Given the description of an element on the screen output the (x, y) to click on. 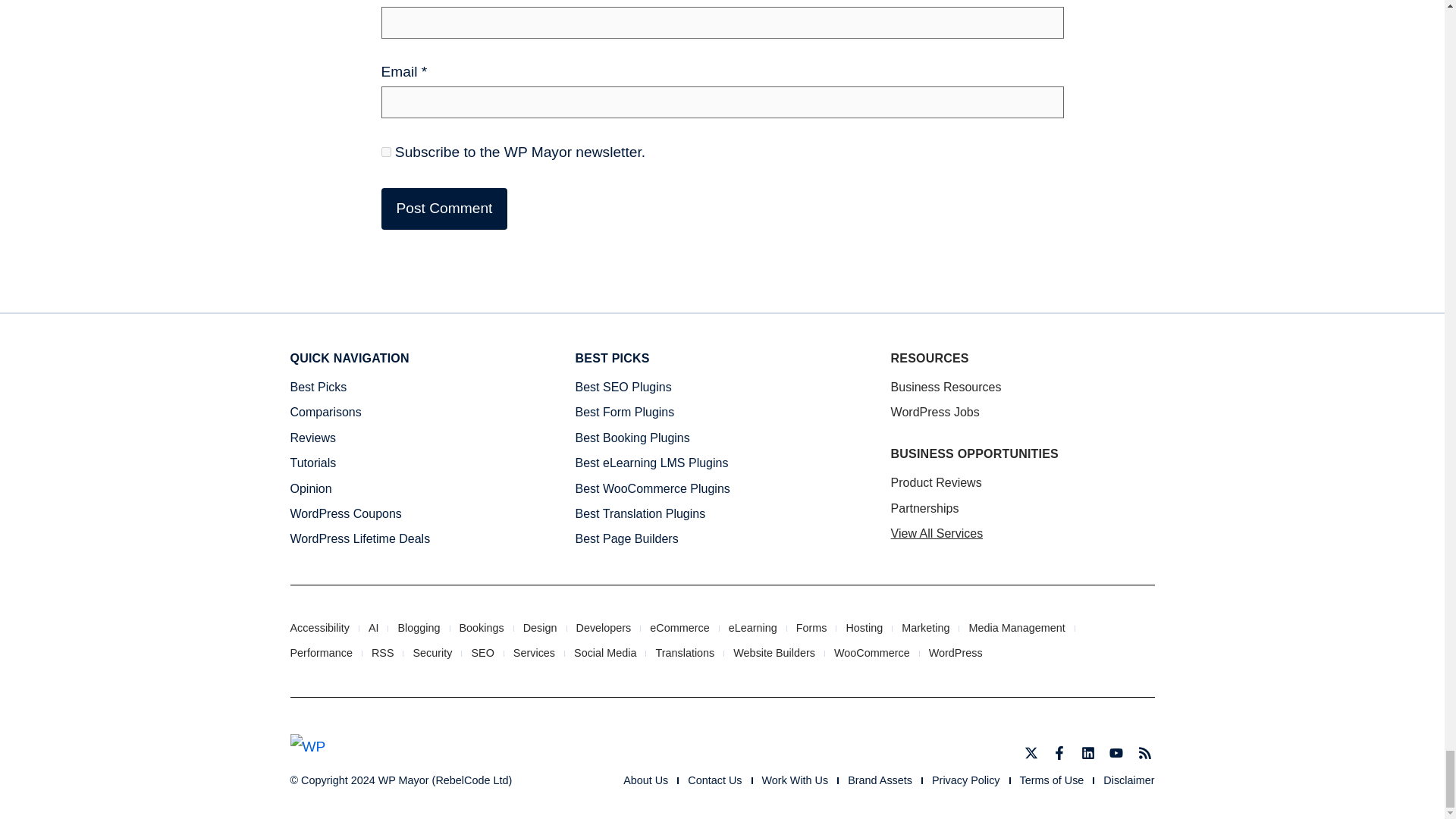
1 (385, 152)
Post Comment (443, 209)
